Given the description of an element on the screen output the (x, y) to click on. 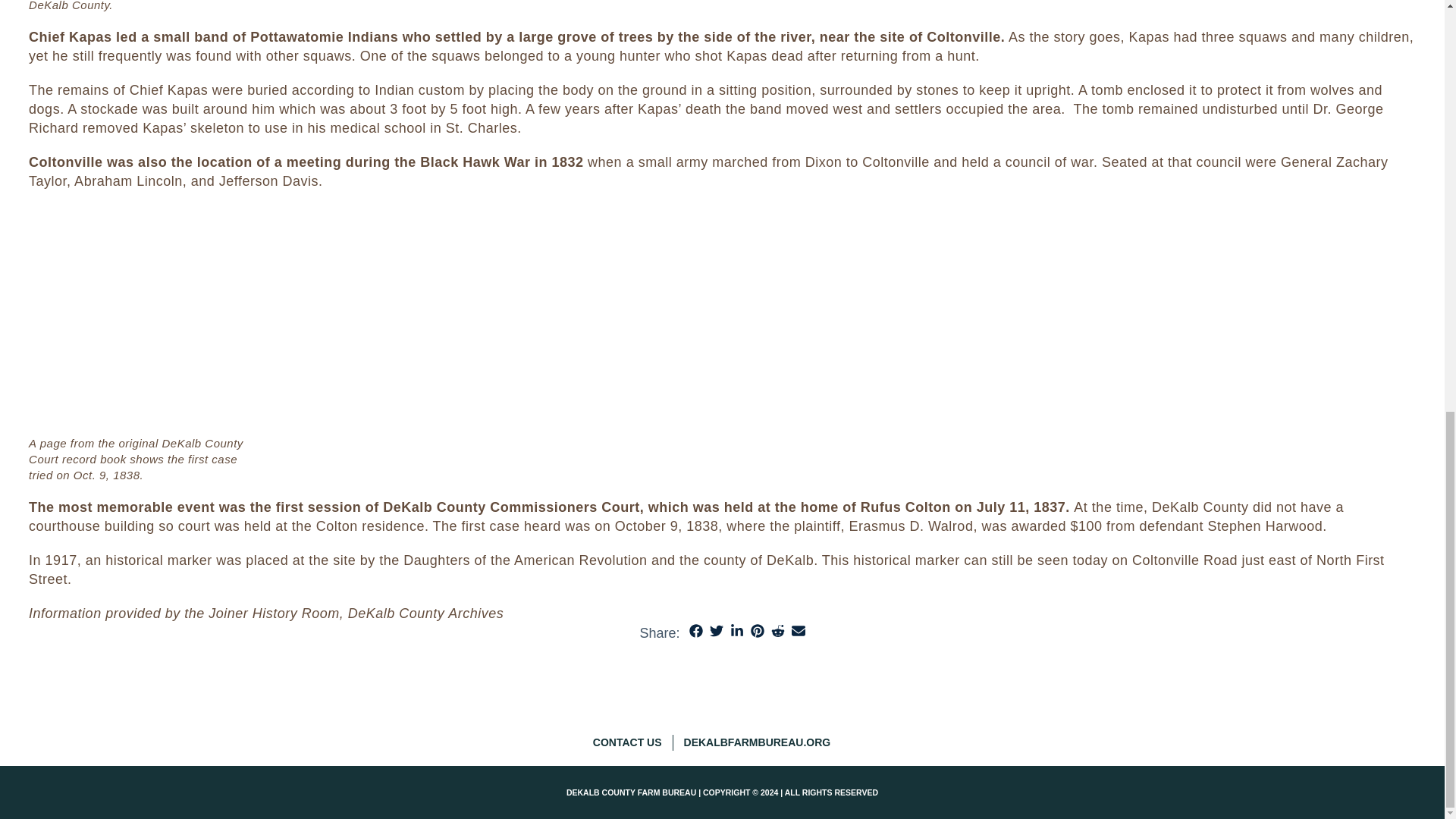
DEKALBFARMBUREAU.ORG (762, 742)
CONTACT US (632, 742)
